Given the description of an element on the screen output the (x, y) to click on. 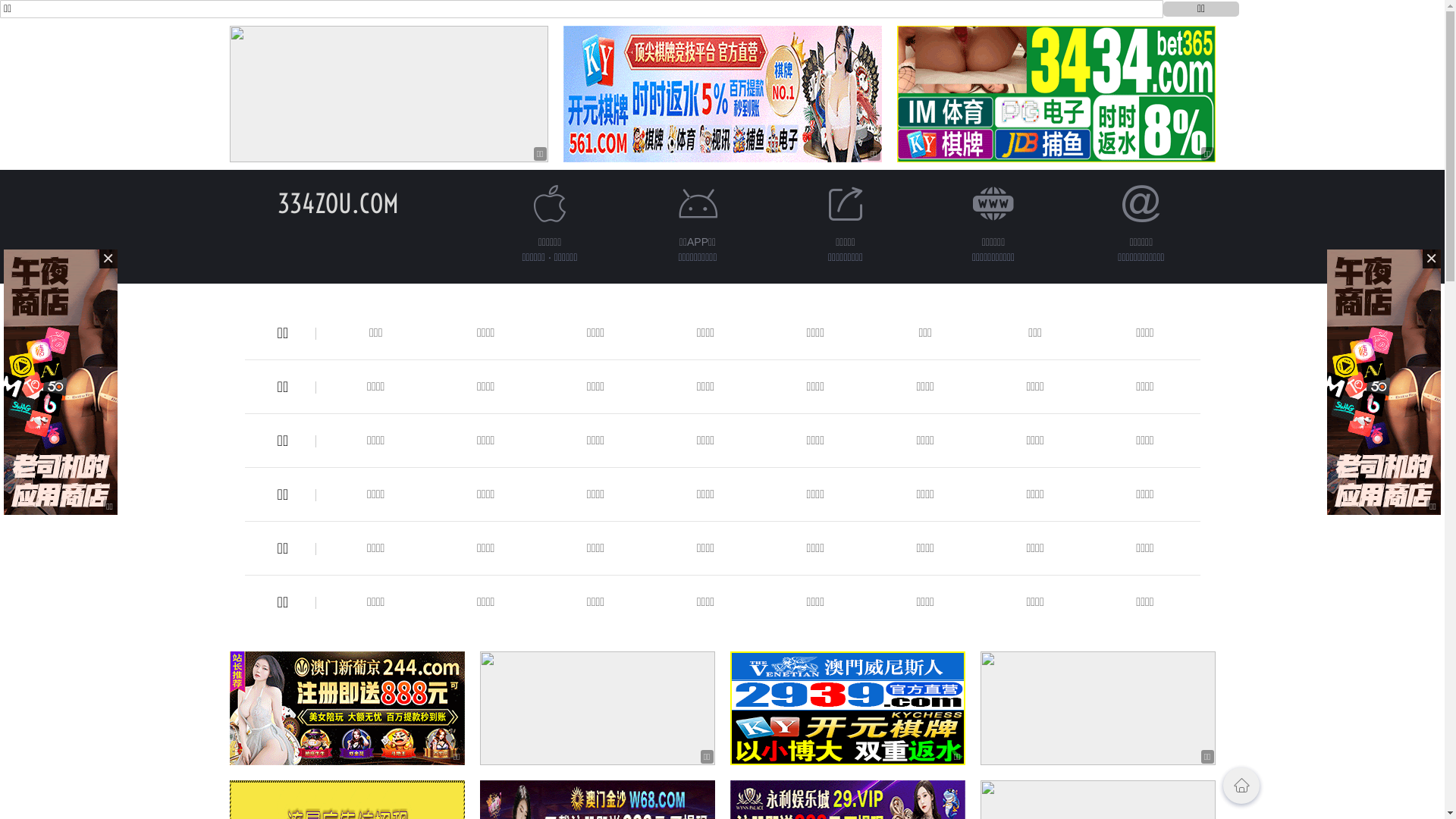
334ZOU.COM Element type: text (337, 203)
